Given the description of an element on the screen output the (x, y) to click on. 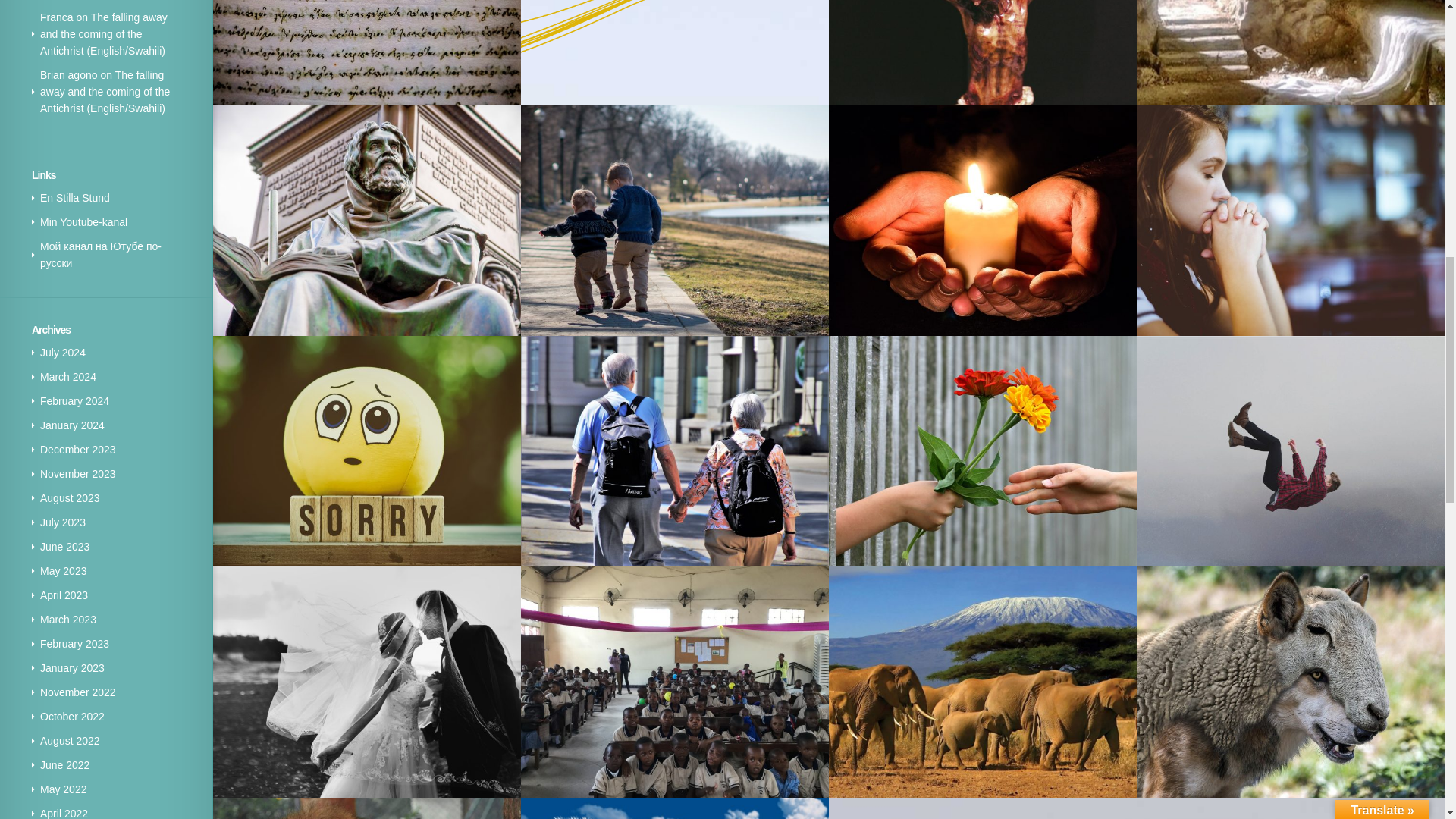
February 2024 (74, 400)
Min Youtube-kanal (84, 222)
June 2023 (64, 546)
November 2023 (78, 473)
July 2023 (62, 522)
January 2024 (72, 425)
December 2023 (78, 449)
May 2023 (62, 571)
En Stilla Stund (75, 197)
August 2023 (70, 498)
March 2024 (68, 377)
July 2024 (62, 352)
